Given the description of an element on the screen output the (x, y) to click on. 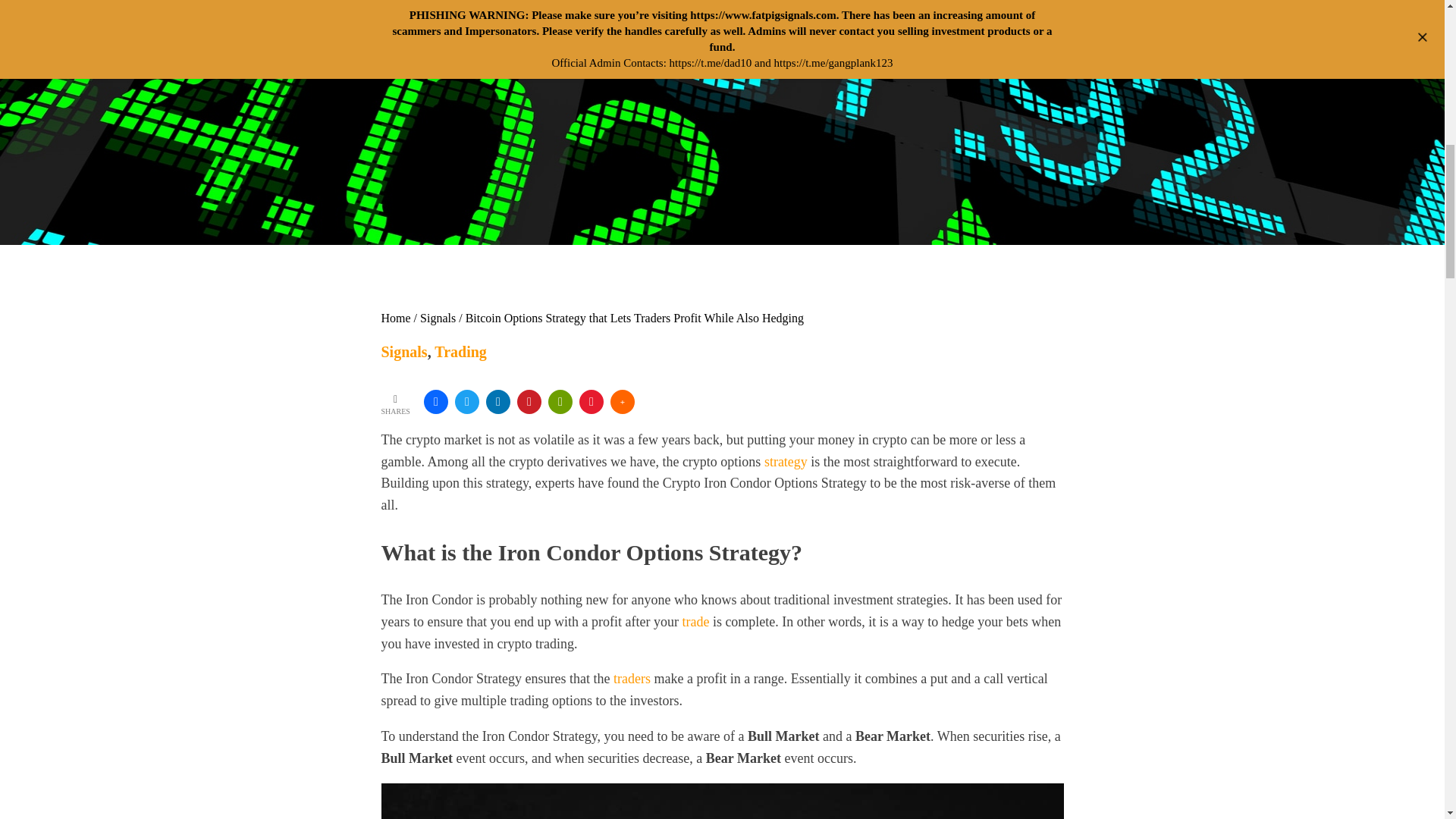
traders (631, 678)
More share links (622, 401)
Tweet this ! (466, 401)
Print this article  (560, 401)
Signals (403, 351)
Add this to LinkedIn (498, 401)
trade (695, 621)
Signals (437, 318)
Home (395, 318)
Trading (459, 351)
Submit this to Pinterest (528, 401)
Convert to PDF (591, 401)
Share this on Facebook (435, 401)
strategy (786, 461)
